Given the description of an element on the screen output the (x, y) to click on. 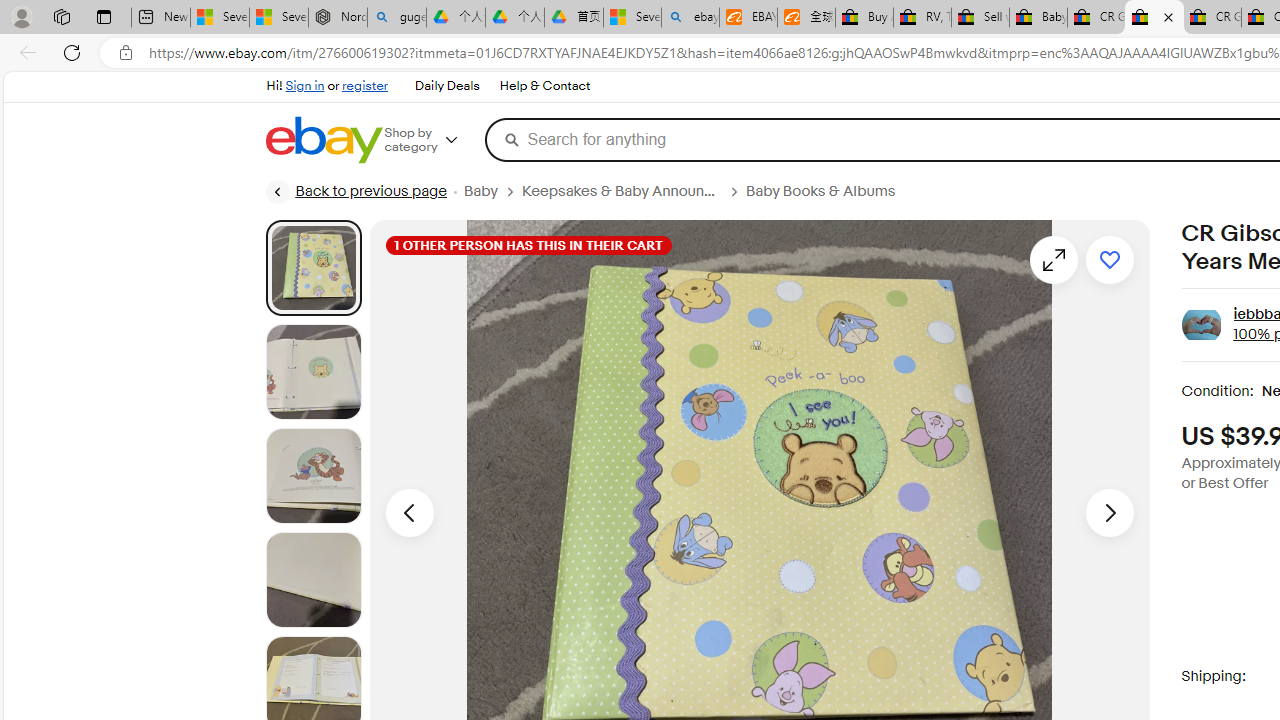
register (364, 85)
Baby Books & Albums (820, 191)
Picture 3 of 22 (313, 475)
Picture 4 of 22 (313, 579)
Picture 2 of 22 (313, 371)
Opens image gallery (1053, 259)
Picture 4 of 22 (313, 579)
Next image - Item images thumbnails (1109, 512)
Help & Contact (543, 85)
Picture 1 of 22 (313, 268)
Baby Keepsakes & Announcements for sale | eBay (1038, 17)
Daily Deals (446, 85)
